Given the description of an element on the screen output the (x, y) to click on. 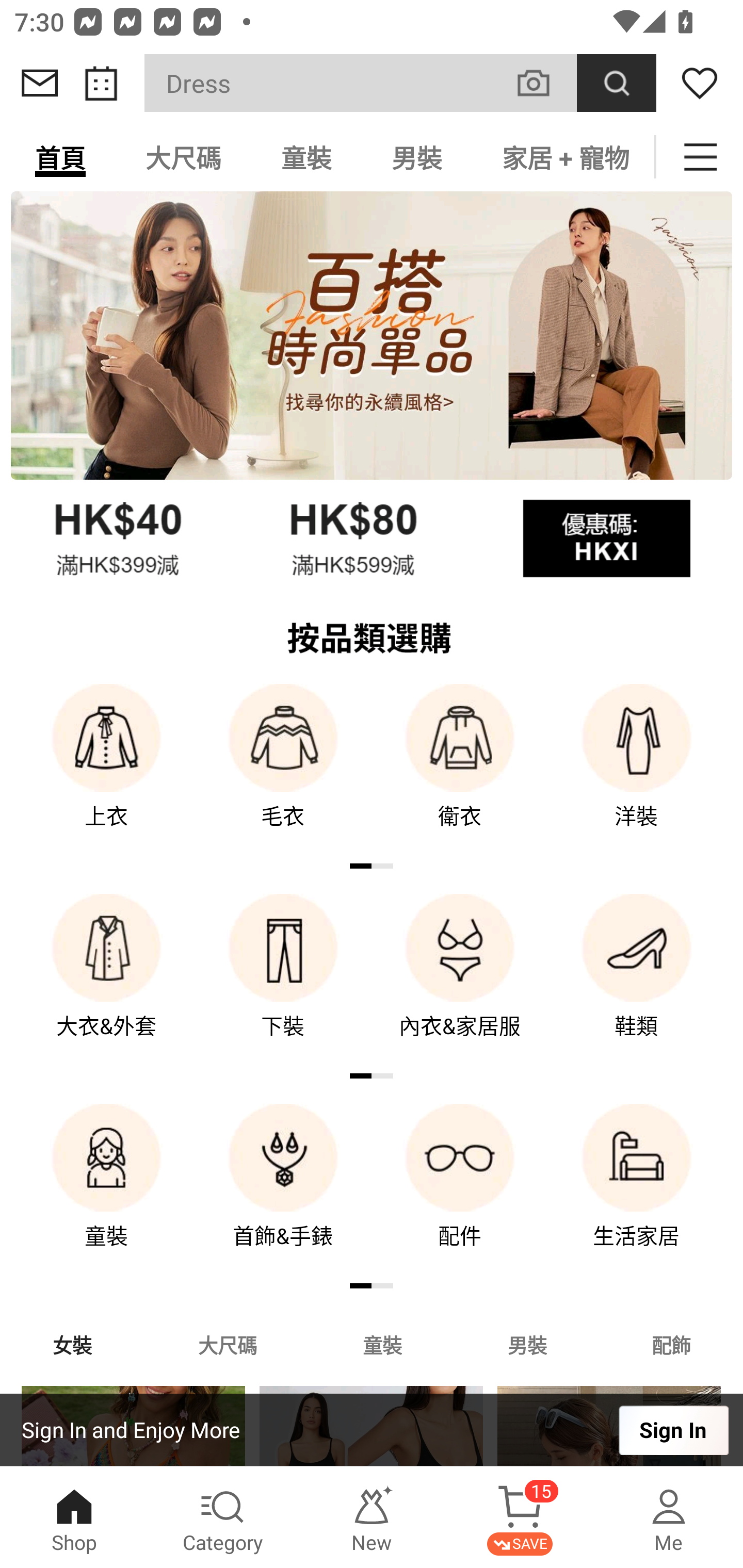
Wishlist (699, 82)
VISUAL SEARCH (543, 82)
首頁 (60, 156)
大尺碼 (183, 156)
童裝 (306, 156)
男裝 (416, 156)
家居 + 寵物 (563, 156)
上衣 (105, 769)
毛衣 (282, 769)
衛衣 (459, 769)
洋裝 (636, 769)
大衣&外套 (105, 979)
下裝 (282, 979)
內衣&家居服 (459, 979)
鞋類 (636, 979)
童裝 (105, 1189)
首飾&手錶 (282, 1189)
配件 (459, 1189)
生活家居 (636, 1189)
女裝 (72, 1344)
大尺碼 (226, 1344)
童裝 (381, 1344)
男裝 (527, 1344)
配飾 (671, 1344)
Sign In and Enjoy More Sign In (371, 1429)
Category (222, 1517)
New (371, 1517)
Cart 15 SAVE (519, 1517)
Me (668, 1517)
